Given the description of an element on the screen output the (x, y) to click on. 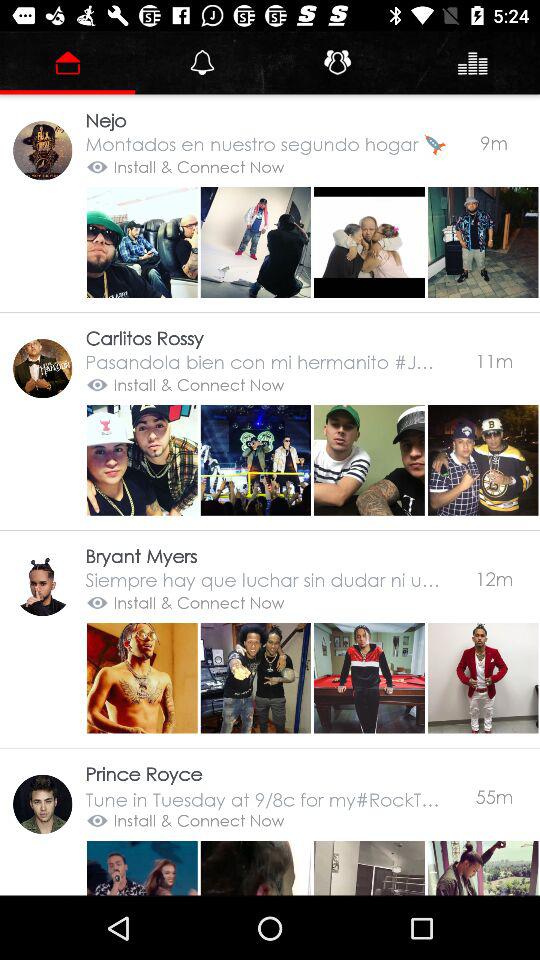
click on home button (368, 242)
